Given the description of an element on the screen output the (x, y) to click on. 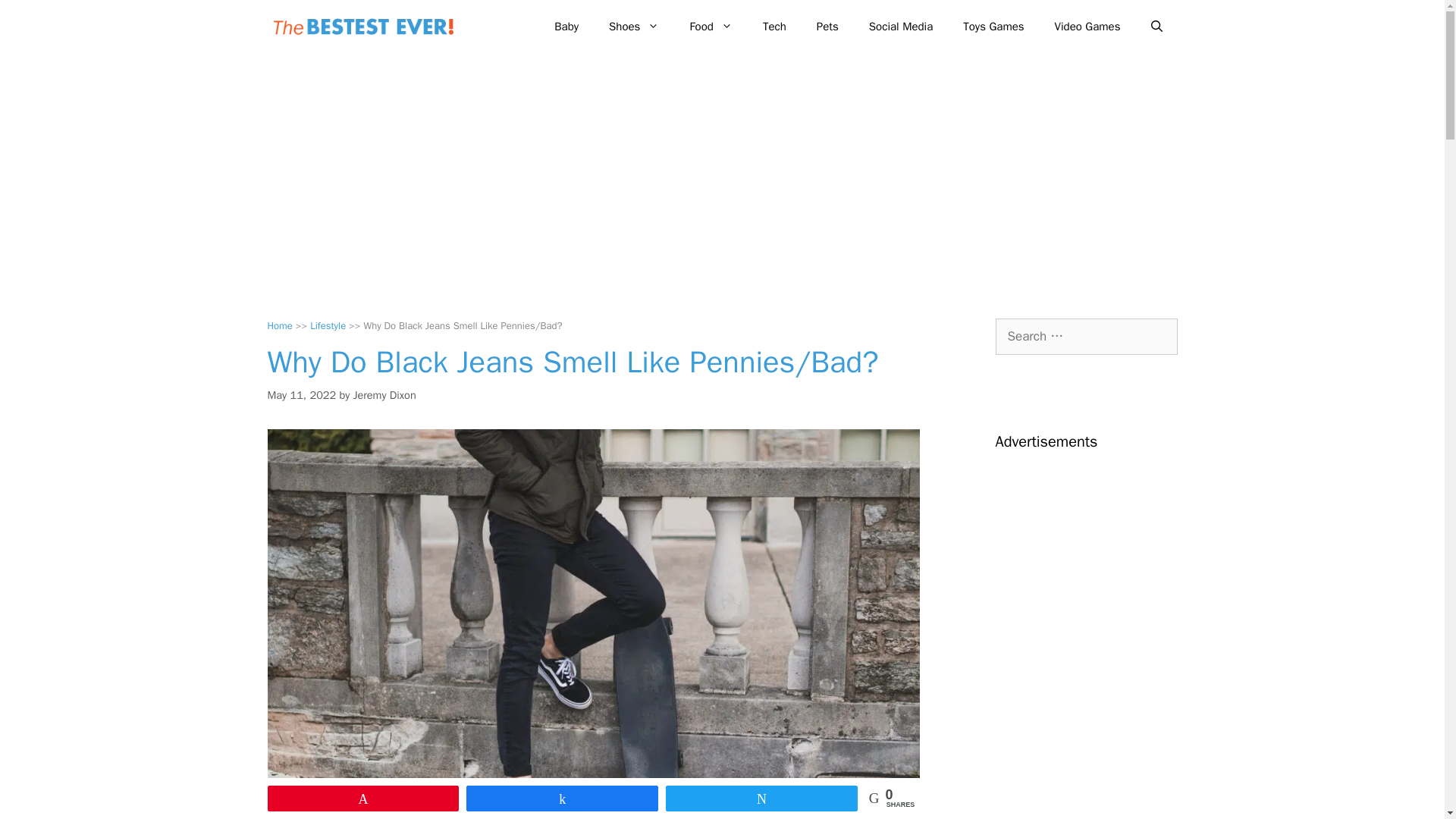
Search for: (1085, 336)
View all posts by Jeremy Dixon (384, 395)
Toys Games (993, 26)
Shoes (634, 26)
Video Games (1087, 26)
The Bestest Ever! (365, 26)
Food (710, 26)
Tech (775, 26)
Social Media (900, 26)
Home (279, 325)
Baby (566, 26)
Pets (827, 26)
